Given the description of an element on the screen output the (x, y) to click on. 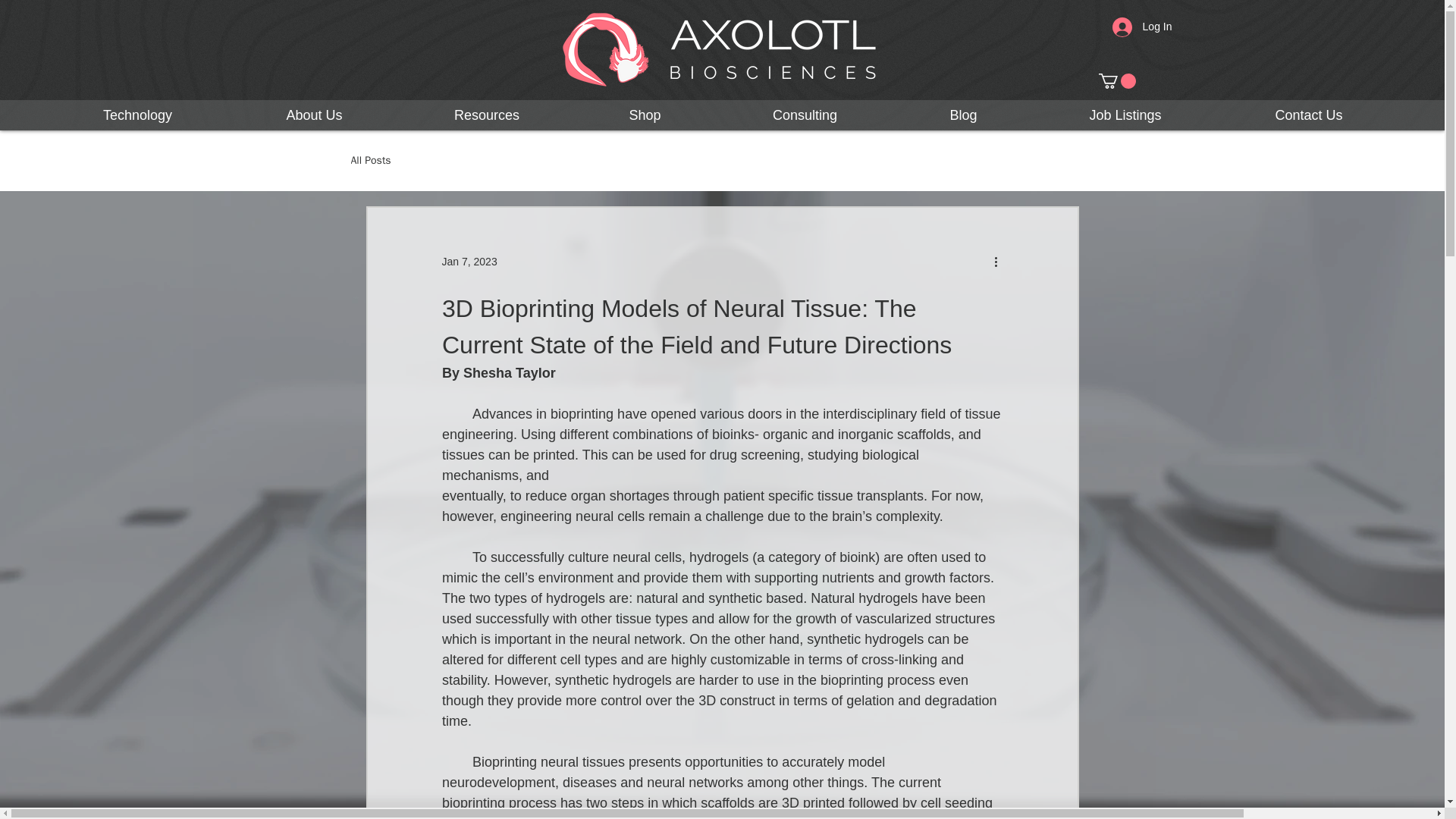
Resources (486, 115)
Technology (137, 115)
Jan 7, 2023 (468, 261)
Blog (963, 115)
Shop (644, 115)
All Posts (370, 160)
Contact Us (1308, 115)
Log In (1142, 26)
Consulting (804, 115)
About Us (314, 115)
Job Listings (1125, 115)
